Given the description of an element on the screen output the (x, y) to click on. 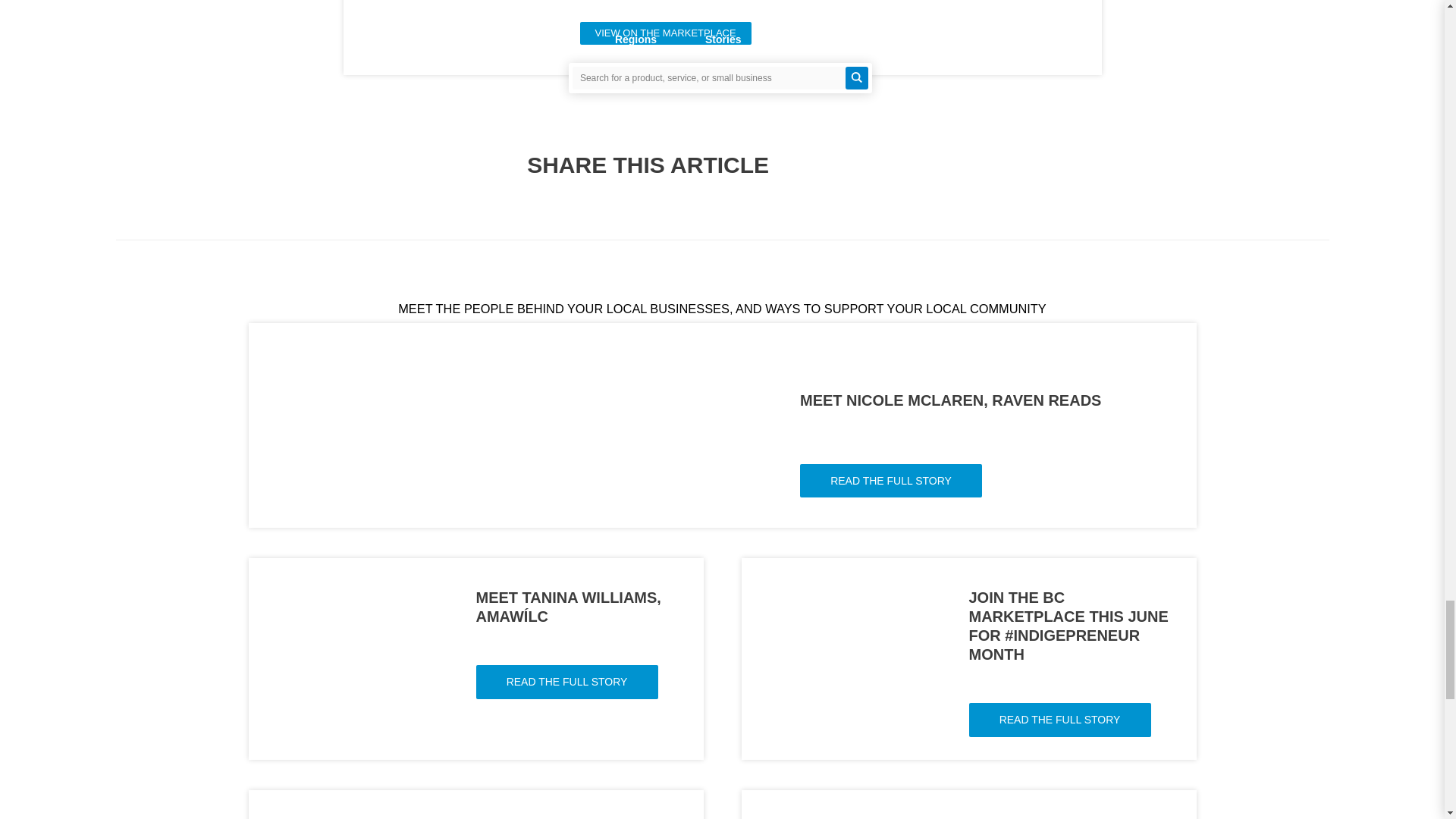
Share on Facebook (861, 164)
Share on LinkedIn (899, 164)
Tweet this (823, 164)
